Given the description of an element on the screen output the (x, y) to click on. 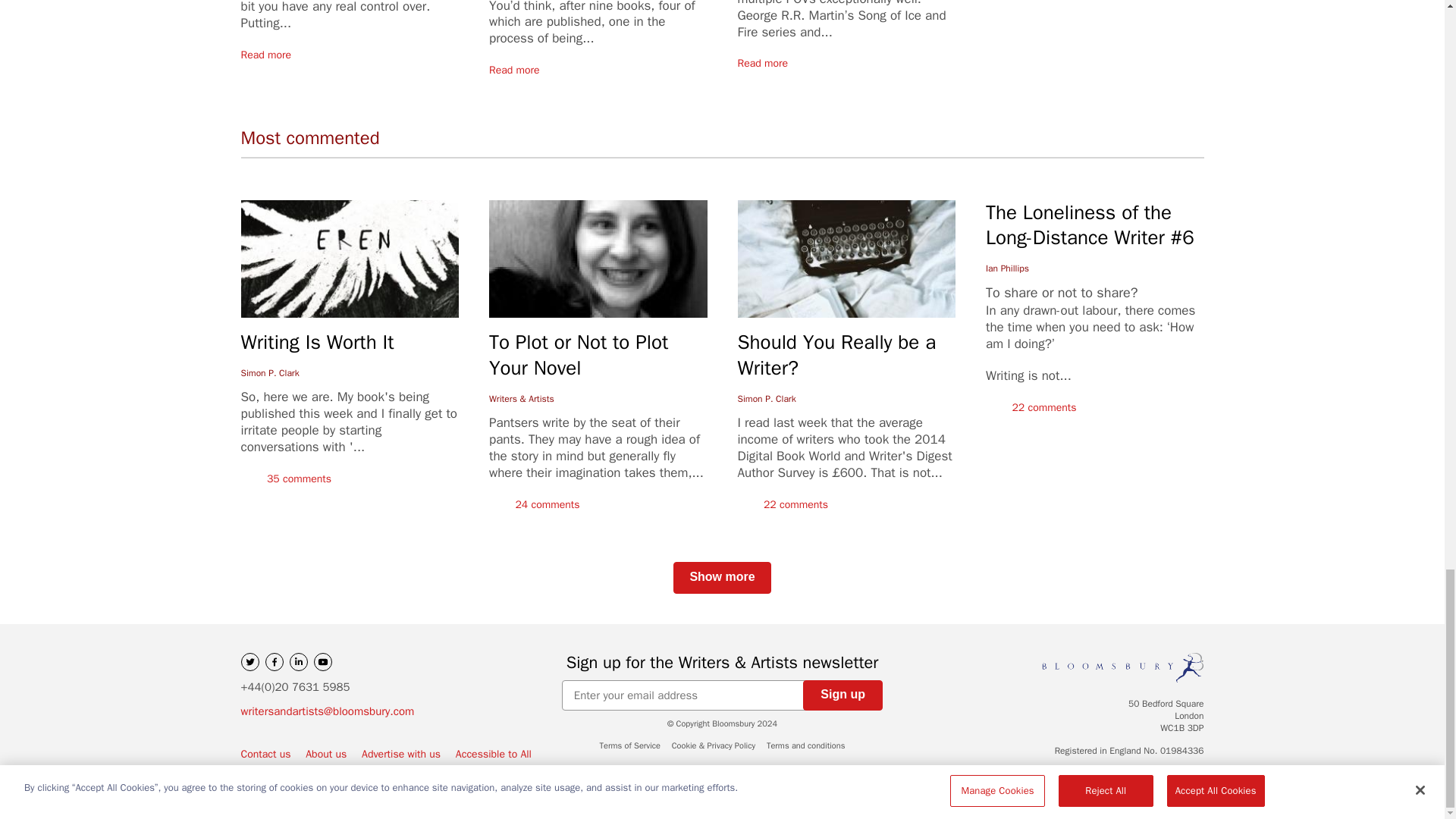
Sign up (842, 695)
Linkedin (298, 661)
YouTube (322, 661)
Terms and conditions (805, 744)
Load more items (721, 577)
Twitter (250, 661)
Terms of Service (630, 744)
Facebook (273, 661)
